Given the description of an element on the screen output the (x, y) to click on. 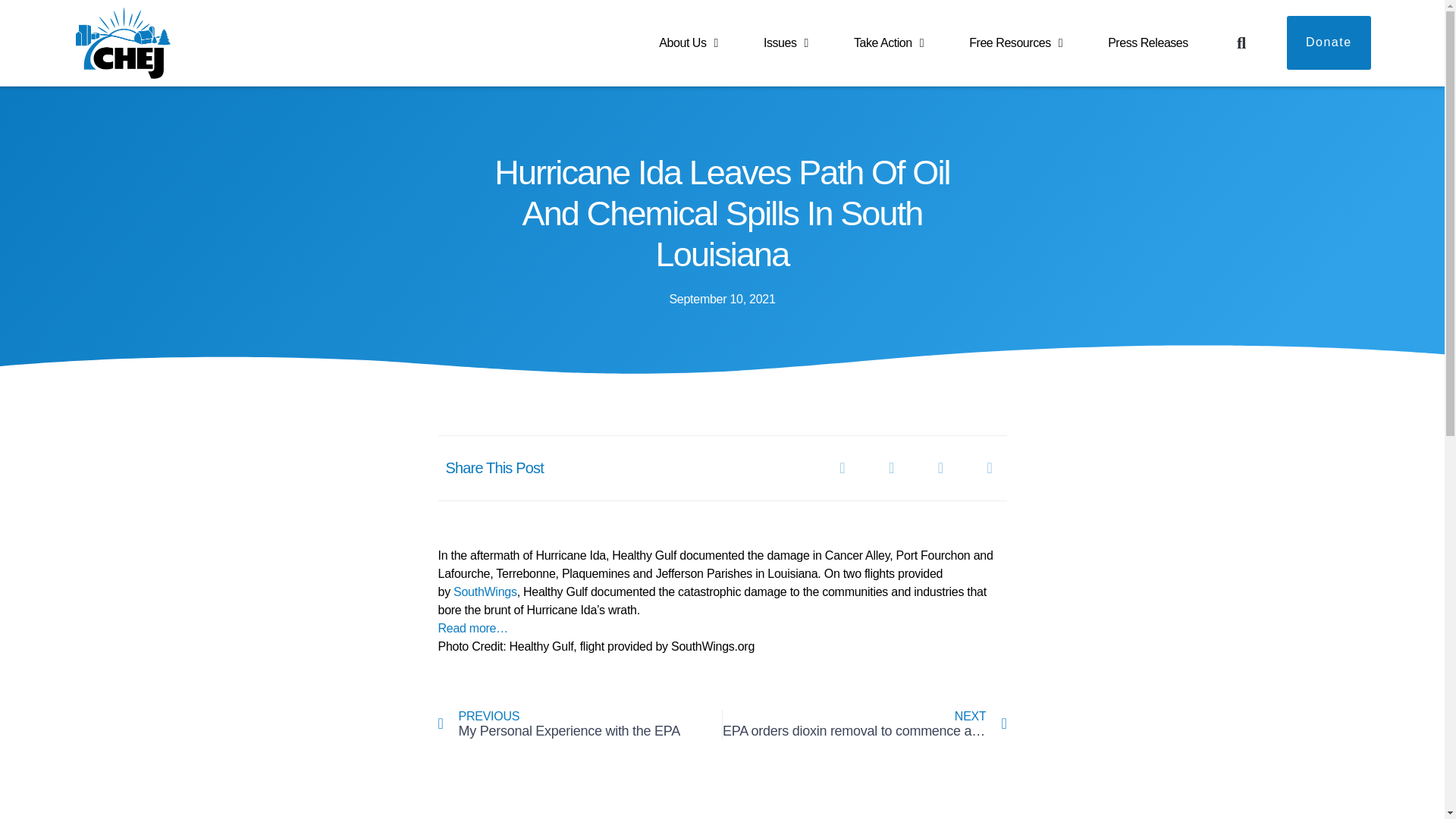
Issues (785, 43)
Free Resources (1015, 43)
Press Releases (1147, 43)
About Us (687, 43)
Take Action (888, 43)
